Given the description of an element on the screen output the (x, y) to click on. 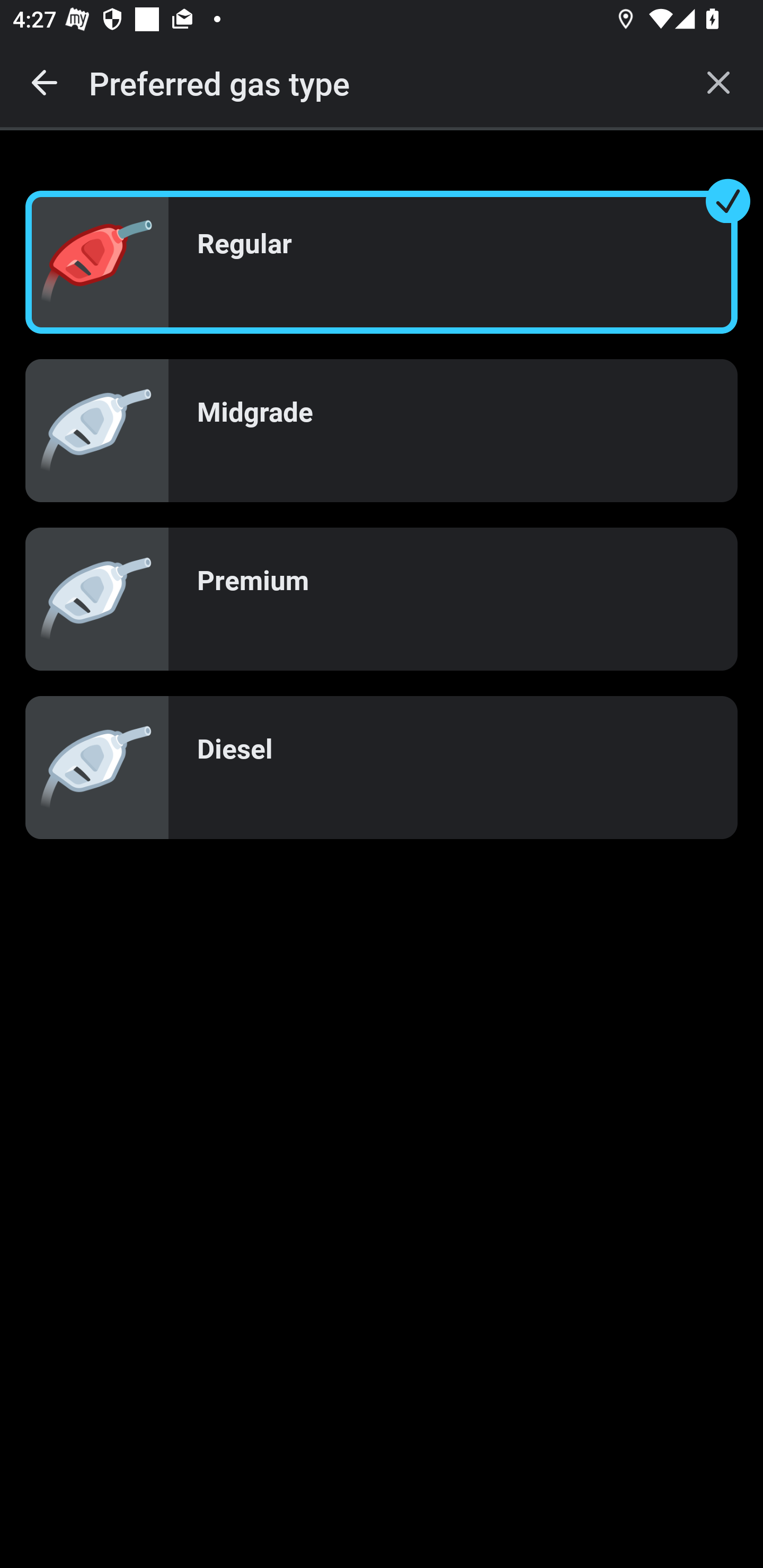
test View profile (381, 266)
Midgrade (381, 430)
Premium (381, 598)
Diesel (381, 767)
